Given the description of an element on the screen output the (x, y) to click on. 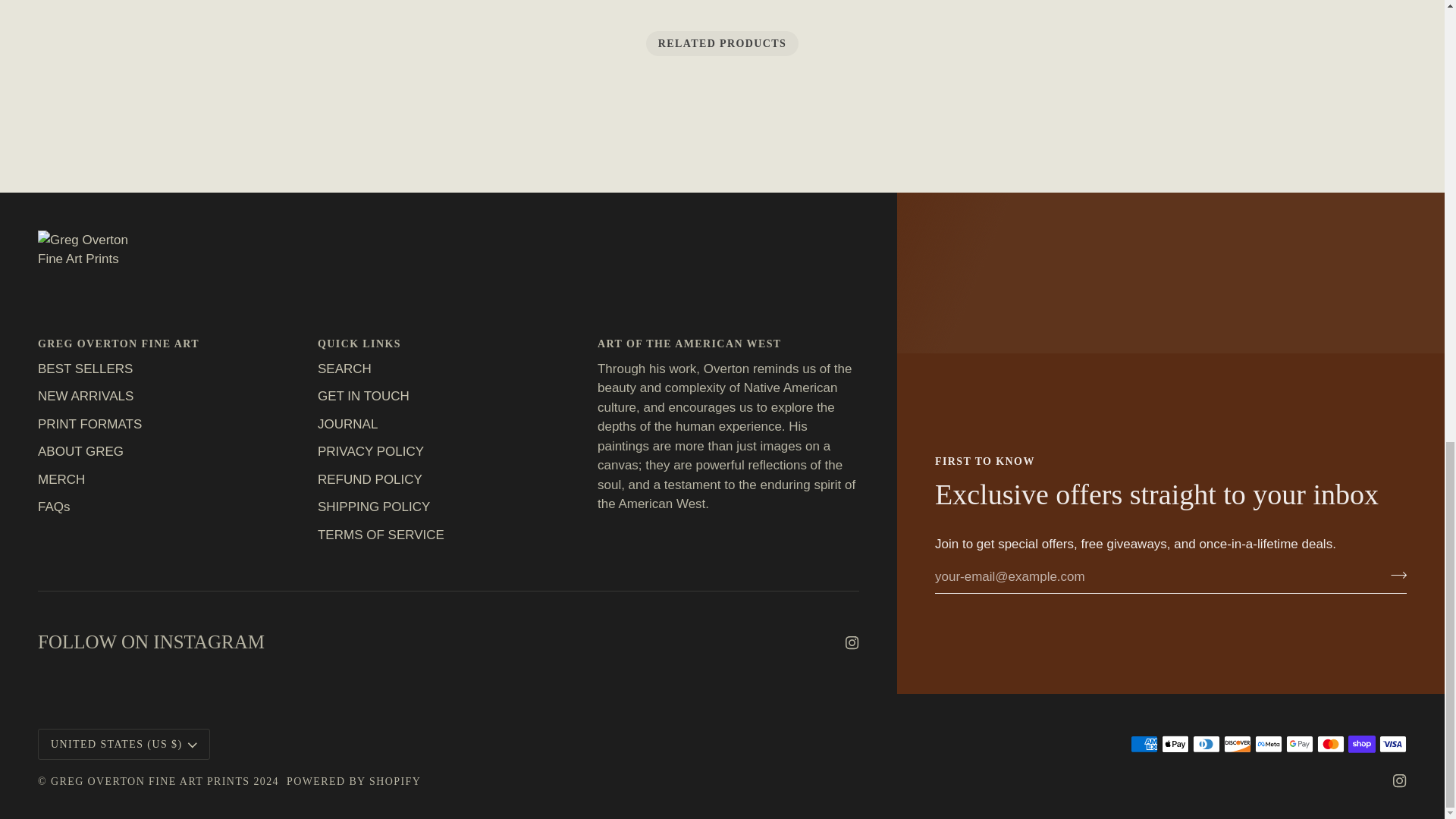
Instagram (1399, 780)
VISA (1392, 743)
DISCOVER (1237, 743)
Instagram (852, 643)
AMERICAN EXPRESS (1144, 743)
META PAY (1268, 743)
RELATED PRODUCTS (722, 43)
SHOP PAY (1361, 743)
GOOGLE PAY (1299, 743)
APPLE PAY (1175, 743)
